Given the description of an element on the screen output the (x, y) to click on. 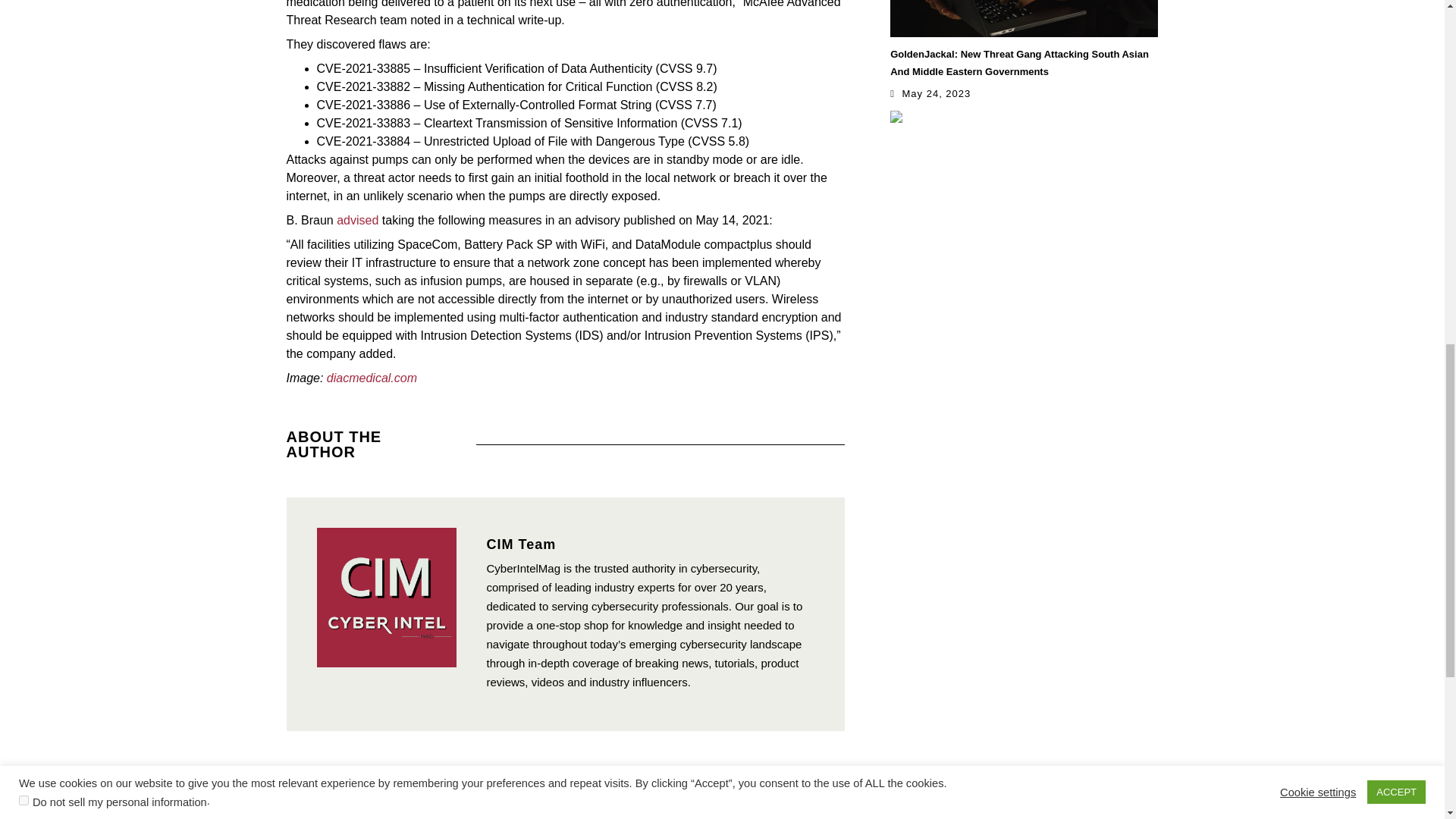
advised (357, 219)
diacmedical.com (371, 377)
